Given the description of an element on the screen output the (x, y) to click on. 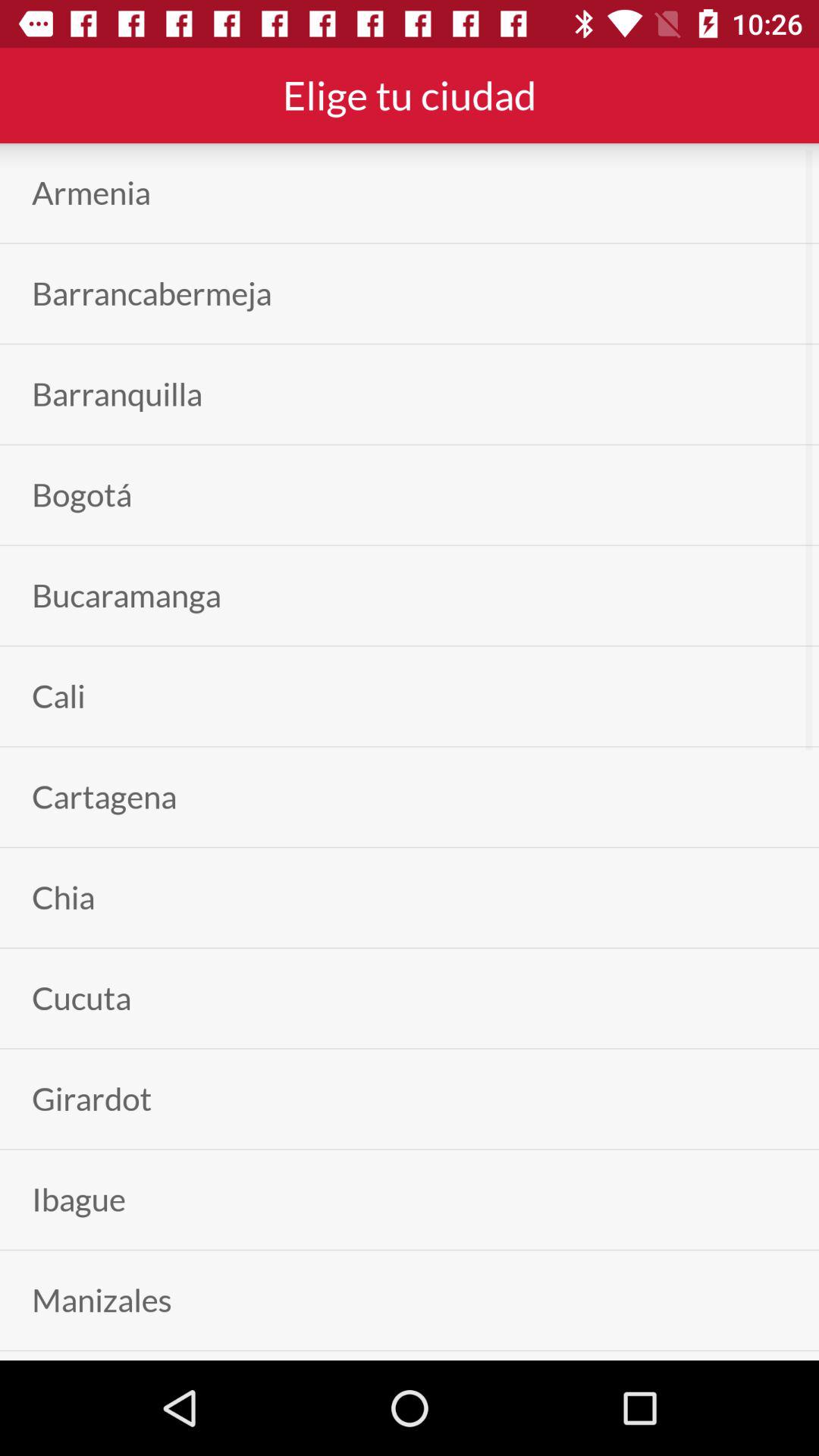
turn on app above barranquilla app (151, 293)
